Given the description of an element on the screen output the (x, y) to click on. 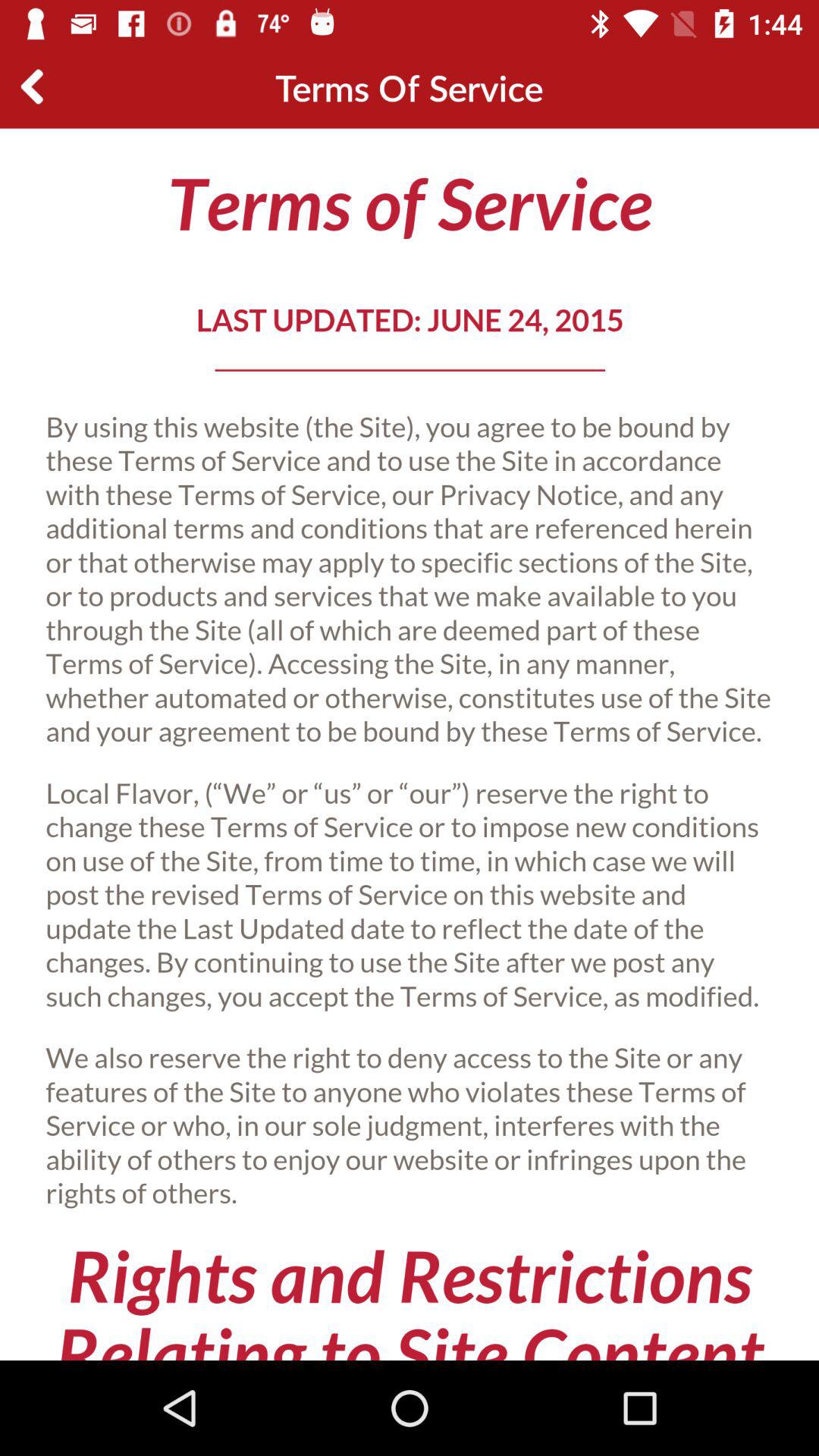
scroll to read information in the box (409, 744)
